Given the description of an element on the screen output the (x, y) to click on. 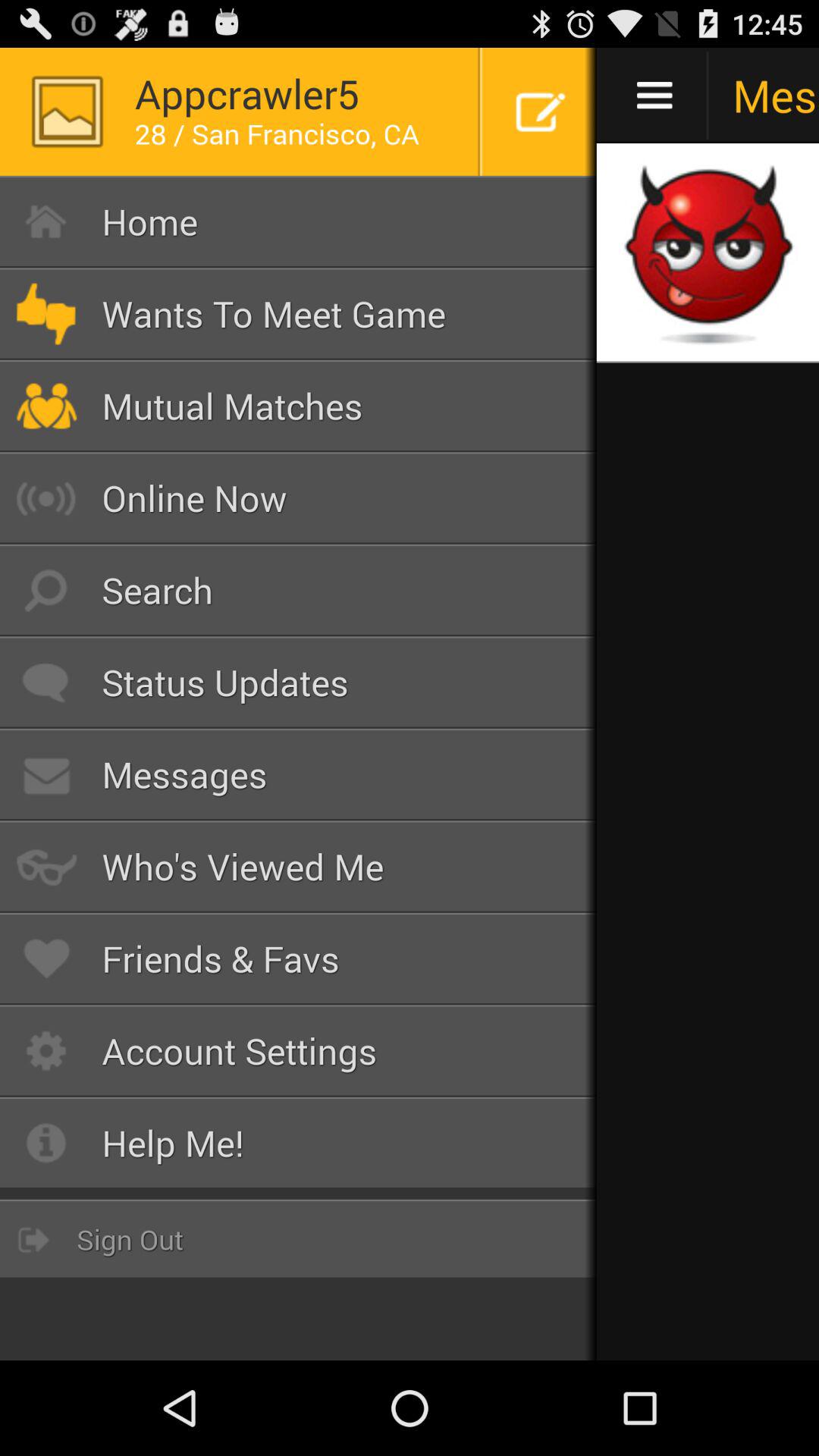
click the account settings icon (298, 1050)
